Given the description of an element on the screen output the (x, y) to click on. 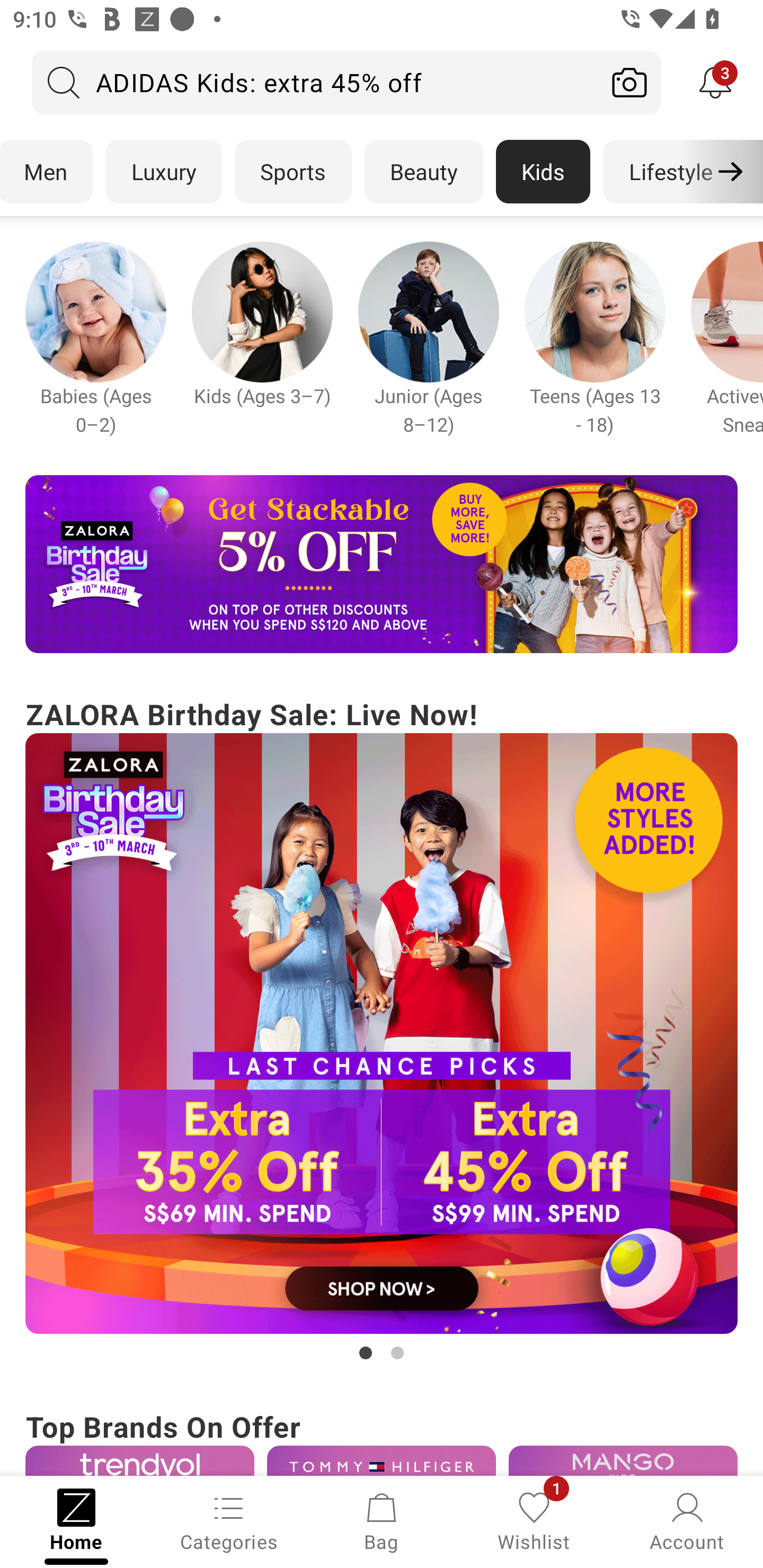
ADIDAS Kids: extra 45% off (314, 82)
Men (46, 171)
Luxury (163, 171)
Sports (293, 171)
Beauty (423, 171)
Kids (542, 171)
Lifestyle (669, 171)
Campaign banner (95, 311)
Campaign banner (261, 311)
Campaign banner (428, 311)
Campaign banner (594, 311)
Campaign banner (381, 564)
ZALORA Birthday Sale: Live Now! Campaign banner (381, 1028)
Campaign banner (381, 1033)
Campaign banner (139, 1460)
Campaign banner (381, 1460)
Campaign banner (622, 1460)
Categories (228, 1519)
Bag (381, 1519)
Wishlist, 1 new notification Wishlist (533, 1519)
Account (686, 1519)
